Given the description of an element on the screen output the (x, y) to click on. 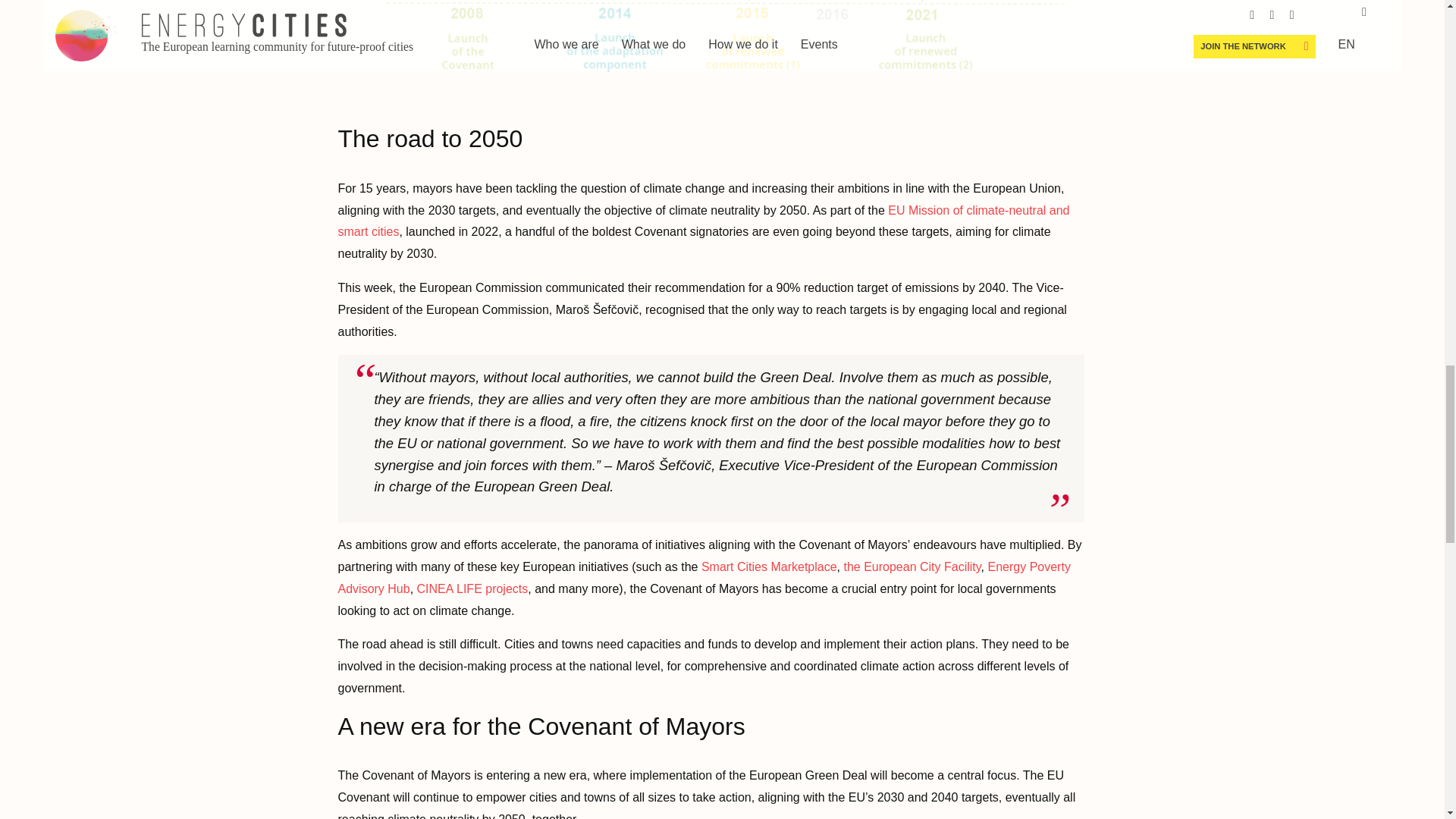
Energy Poverty Advisory Hub (703, 577)
CINEA LIFE projects (472, 588)
EU Mission of climate-neutral and smart cities (703, 221)
the European City Facility (911, 566)
Smart Cities Marketplace (769, 566)
